Given the description of an element on the screen output the (x, y) to click on. 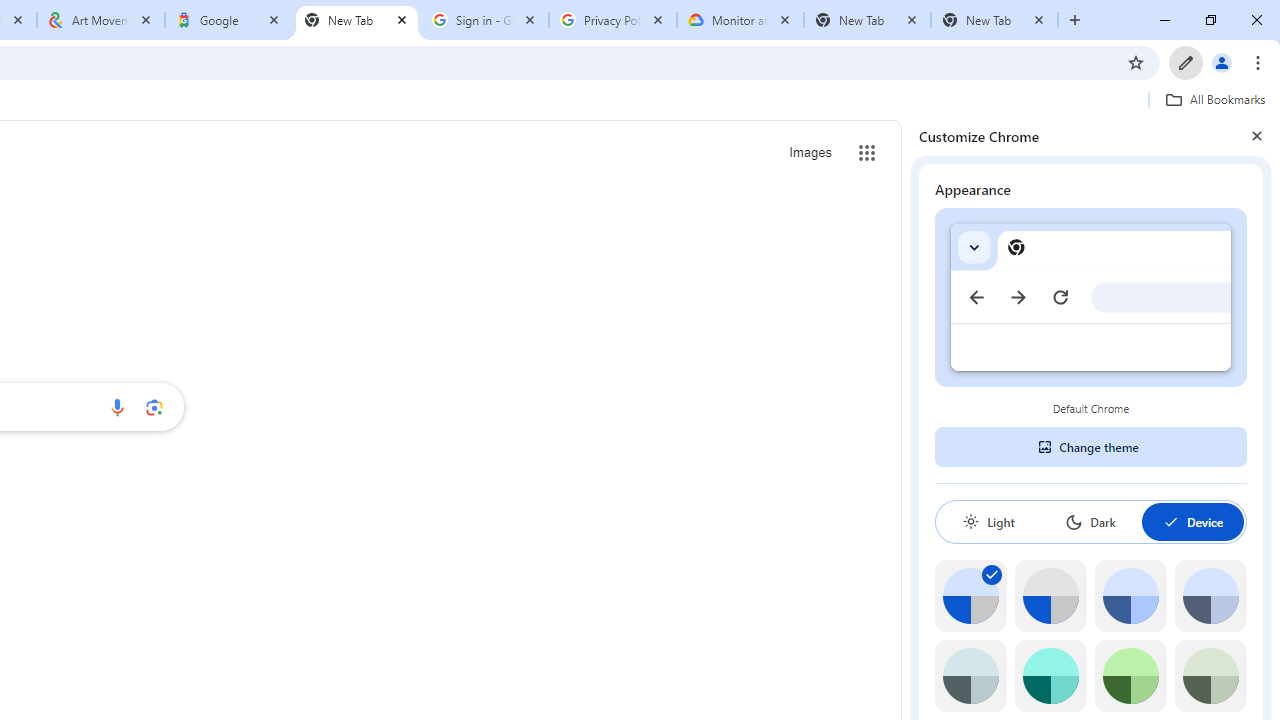
Device (1192, 521)
Blue (1130, 596)
Search for Images  (810, 152)
New Tab (357, 20)
AutomationID: svg (991, 574)
Grey (970, 676)
Green (1130, 676)
Change theme (1090, 446)
Google (229, 20)
Aqua (1050, 676)
Default Chrome (1091, 296)
